Given the description of an element on the screen output the (x, y) to click on. 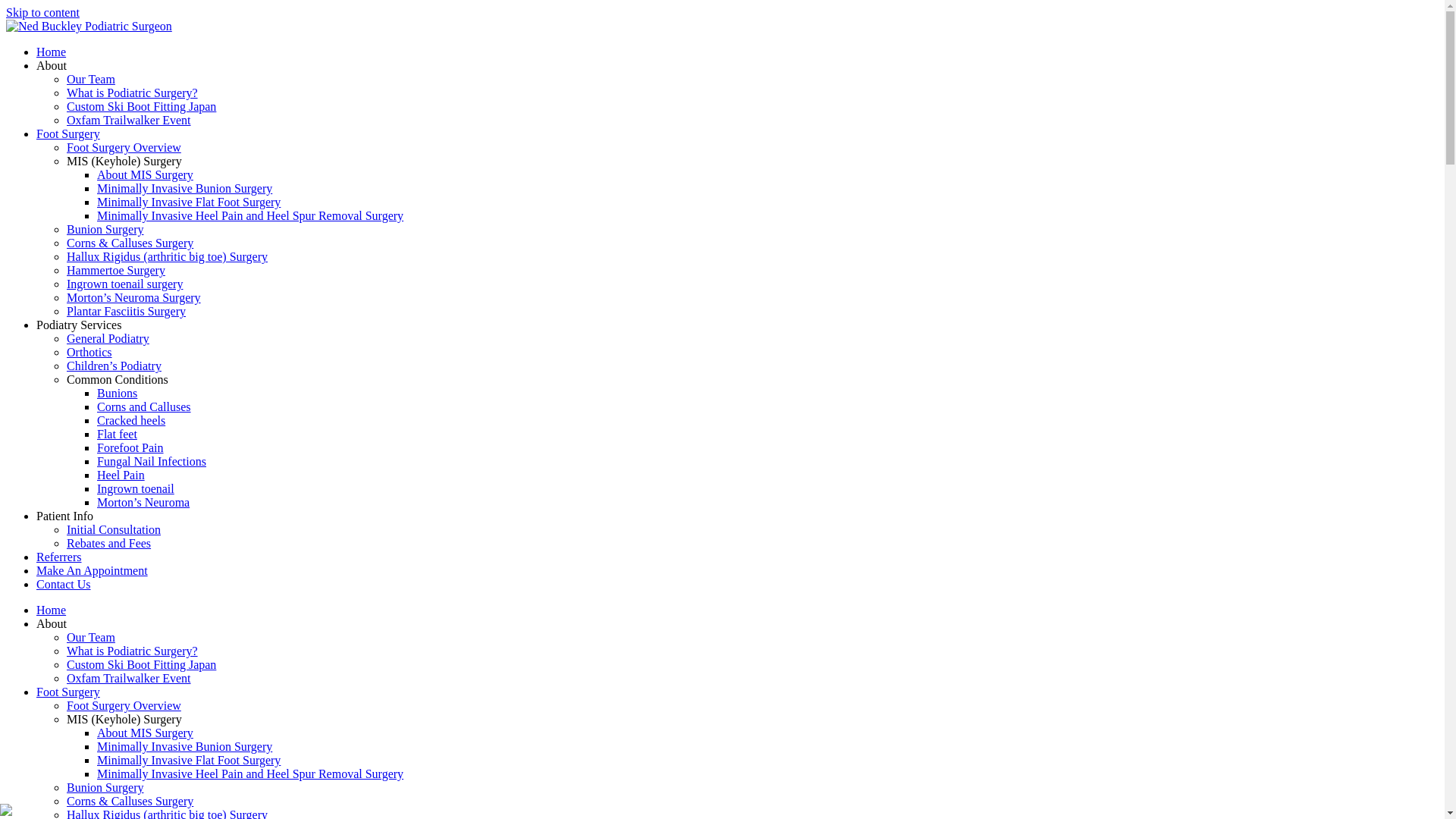
Oxfam Trailwalker Event Element type: text (128, 119)
Foot Surgery Element type: text (68, 691)
About MIS Surgery Element type: text (145, 174)
Our Team Element type: text (90, 636)
Ingrown toenail surgery Element type: text (124, 283)
Heel Pain Element type: text (120, 474)
What is Podiatric Surgery? Element type: text (131, 650)
Corns and Calluses Element type: text (144, 406)
Cracked heels Element type: text (131, 420)
Skip to content Element type: text (42, 12)
Foot Surgery Overview Element type: text (123, 147)
Flat feet Element type: text (117, 433)
What is Podiatric Surgery? Element type: text (131, 92)
Custom Ski Boot Fitting Japan Element type: text (141, 664)
Home Element type: text (50, 609)
Orthotics Element type: text (89, 351)
Fungal Nail Infections Element type: text (151, 461)
Bunion Surgery Element type: text (104, 228)
About Element type: text (51, 65)
Minimally Invasive Flat Foot Surgery Element type: text (188, 759)
Plantar Fasciitis Surgery Element type: text (125, 310)
Make An Appointment Element type: text (91, 570)
Podiatry Services Element type: text (78, 324)
Initial Consultation Element type: text (113, 529)
Minimally Invasive Heel Pain and Heel Spur Removal Surgery Element type: text (250, 773)
About MIS Surgery Element type: text (145, 732)
Rebates and Fees Element type: text (108, 542)
About Element type: text (51, 623)
Our Team Element type: text (90, 78)
MIS (Keyhole) Surgery Element type: text (124, 718)
Contact Us Element type: text (63, 583)
Custom Ski Boot Fitting Japan Element type: text (141, 106)
Hallux Rigidus (arthritic big toe) Surgery Element type: text (166, 256)
Minimally Invasive Flat Foot Surgery Element type: text (188, 201)
Minimally Invasive Heel Pain and Heel Spur Removal Surgery Element type: text (250, 215)
Bunion Surgery Element type: text (104, 787)
Hammertoe Surgery Element type: text (115, 269)
Common Conditions Element type: text (117, 379)
Ingrown toenail Element type: text (135, 488)
Minimally Invasive Bunion Surgery Element type: text (184, 188)
Home Element type: text (50, 51)
Corns & Calluses Surgery Element type: text (129, 242)
Corns & Calluses Surgery Element type: text (129, 800)
Minimally Invasive Bunion Surgery Element type: text (184, 746)
Foot Surgery Element type: text (68, 133)
MIS (Keyhole) Surgery Element type: text (124, 160)
General Podiatry Element type: text (107, 338)
Oxfam Trailwalker Event Element type: text (128, 677)
Foot Surgery Overview Element type: text (123, 705)
Referrers Element type: text (58, 556)
Forefoot Pain Element type: text (130, 447)
Bunions Element type: text (117, 392)
Patient Info Element type: text (64, 515)
